Given the description of an element on the screen output the (x, y) to click on. 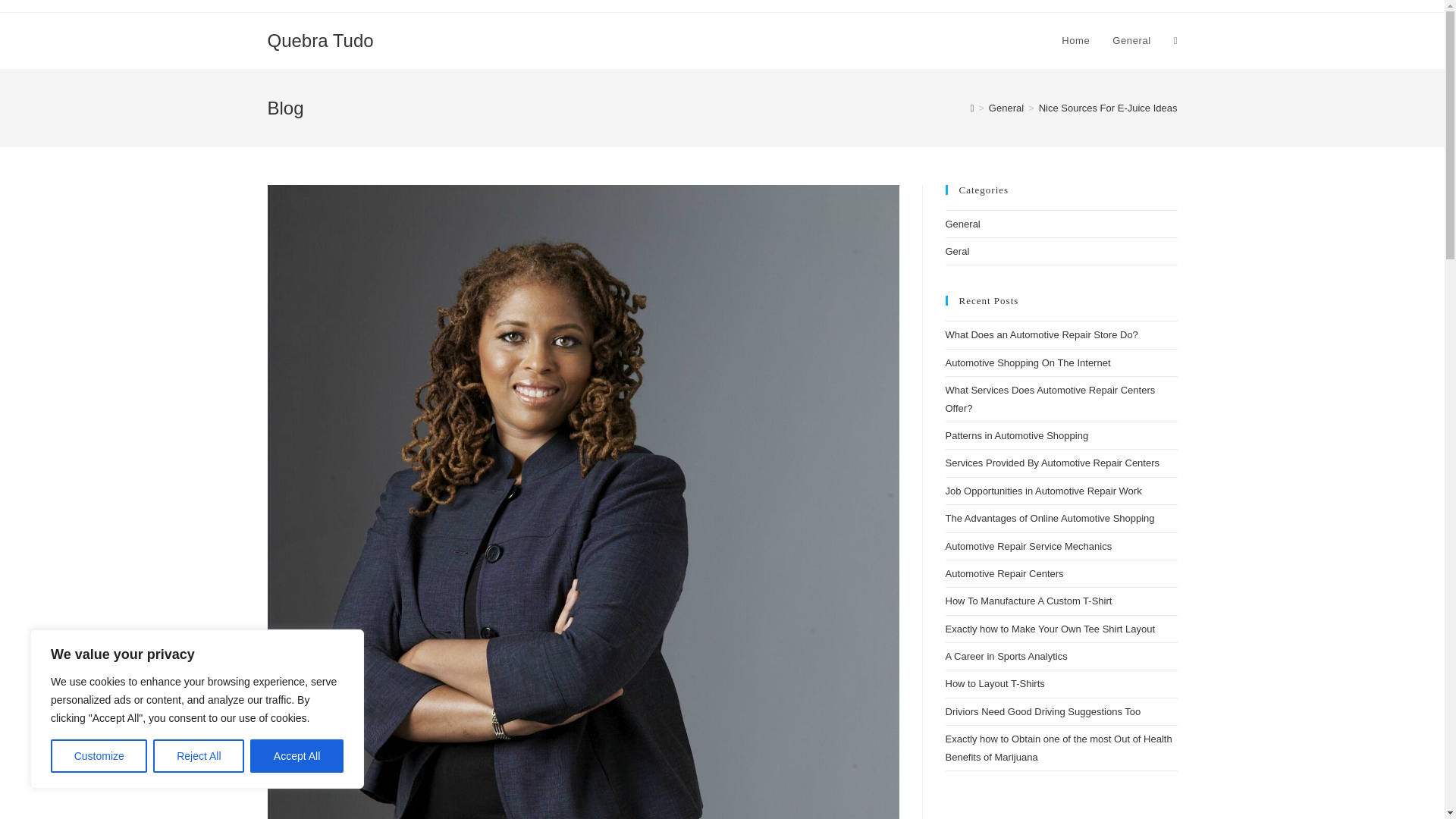
Home (1074, 40)
Accept All (296, 756)
Quebra Tudo (319, 40)
Nice Sources For E-Juice Ideas (1108, 107)
Customize (98, 756)
General (1130, 40)
Reject All (198, 756)
General (1005, 107)
